Given the description of an element on the screen output the (x, y) to click on. 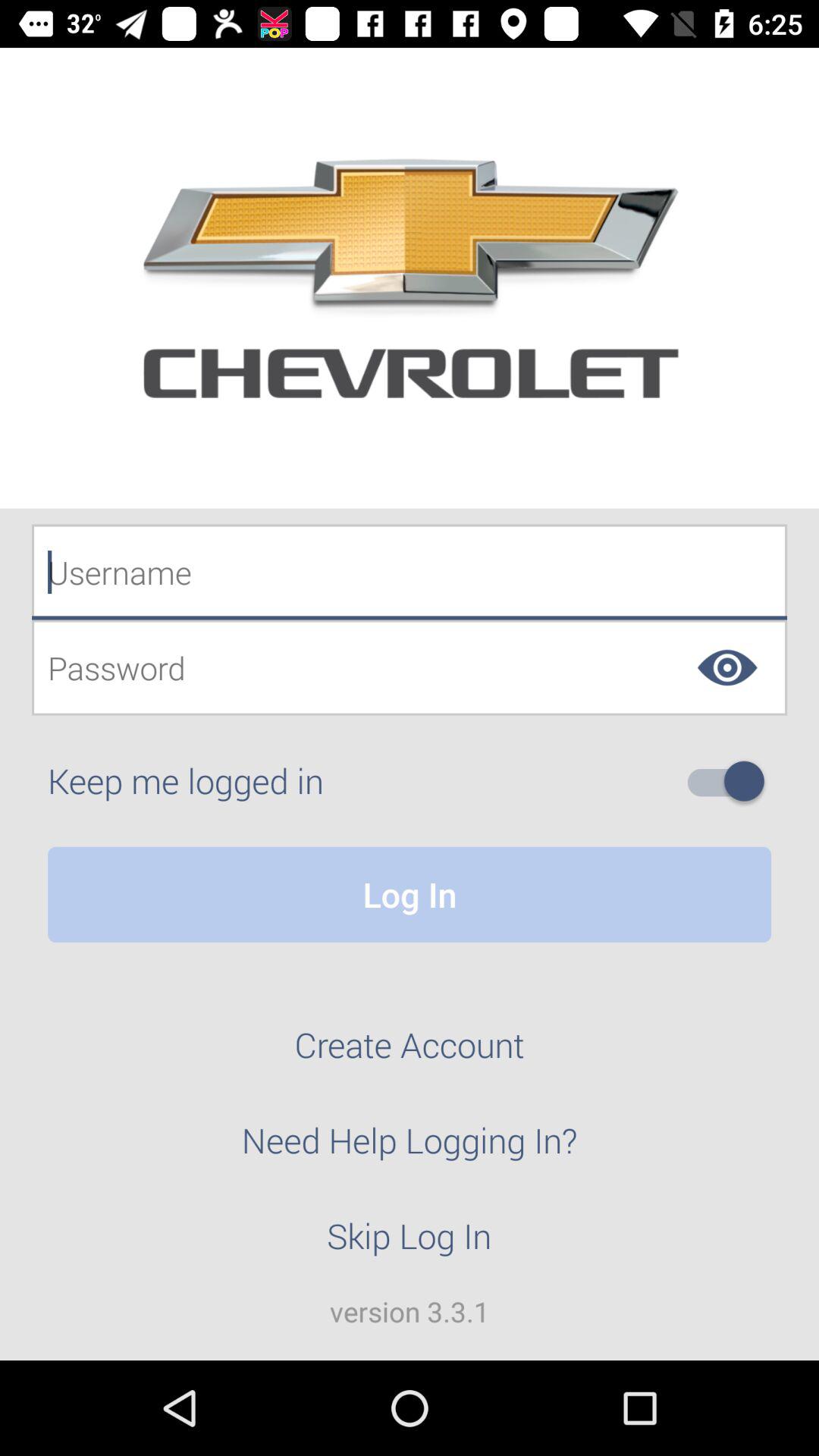
press need help logging item (409, 1149)
